Given the description of an element on the screen output the (x, y) to click on. 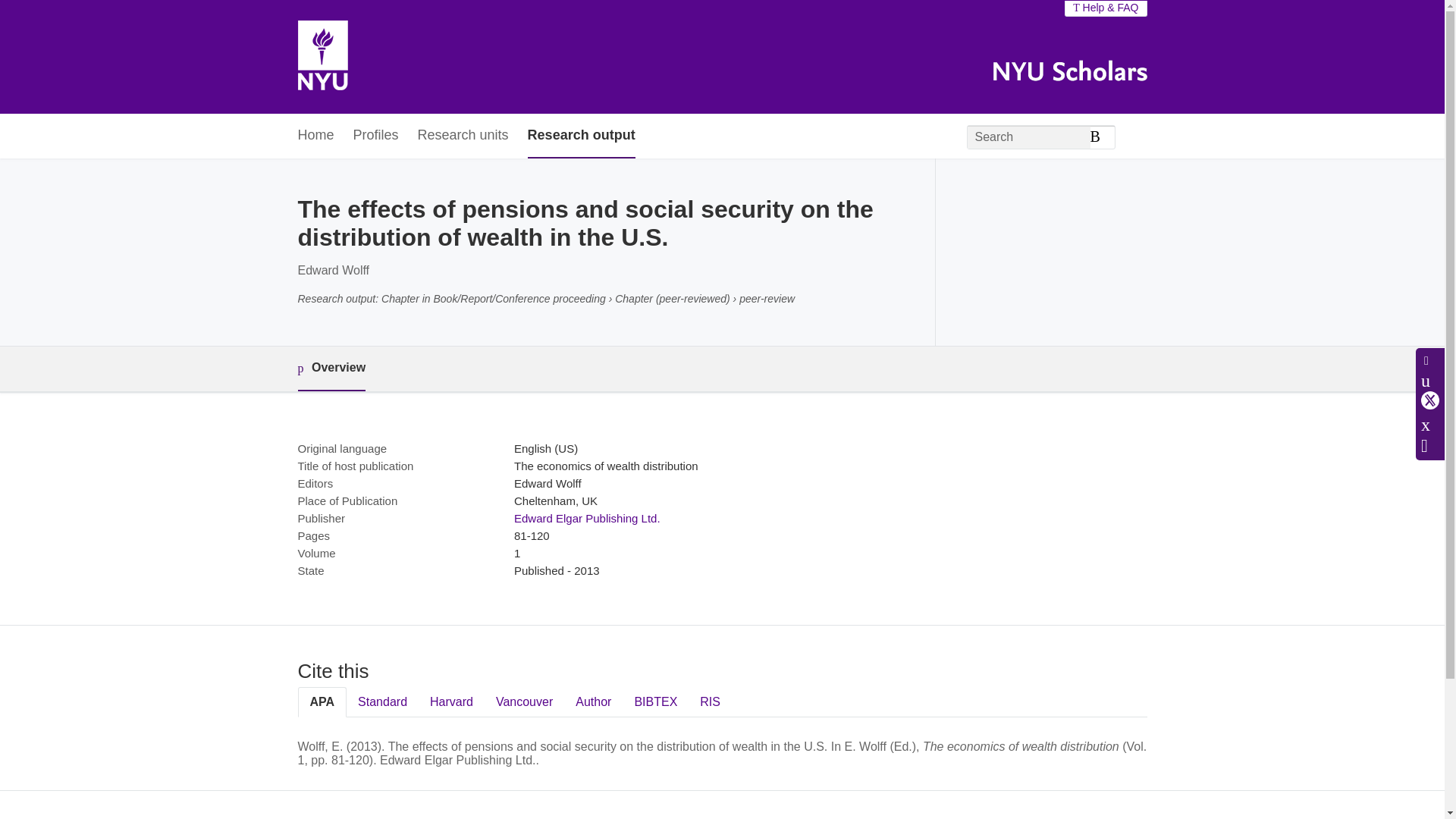
Profiles (375, 135)
Research output (580, 135)
Overview (331, 368)
Research units (462, 135)
Edward Elgar Publishing Ltd. (587, 517)
